Given the description of an element on the screen output the (x, y) to click on. 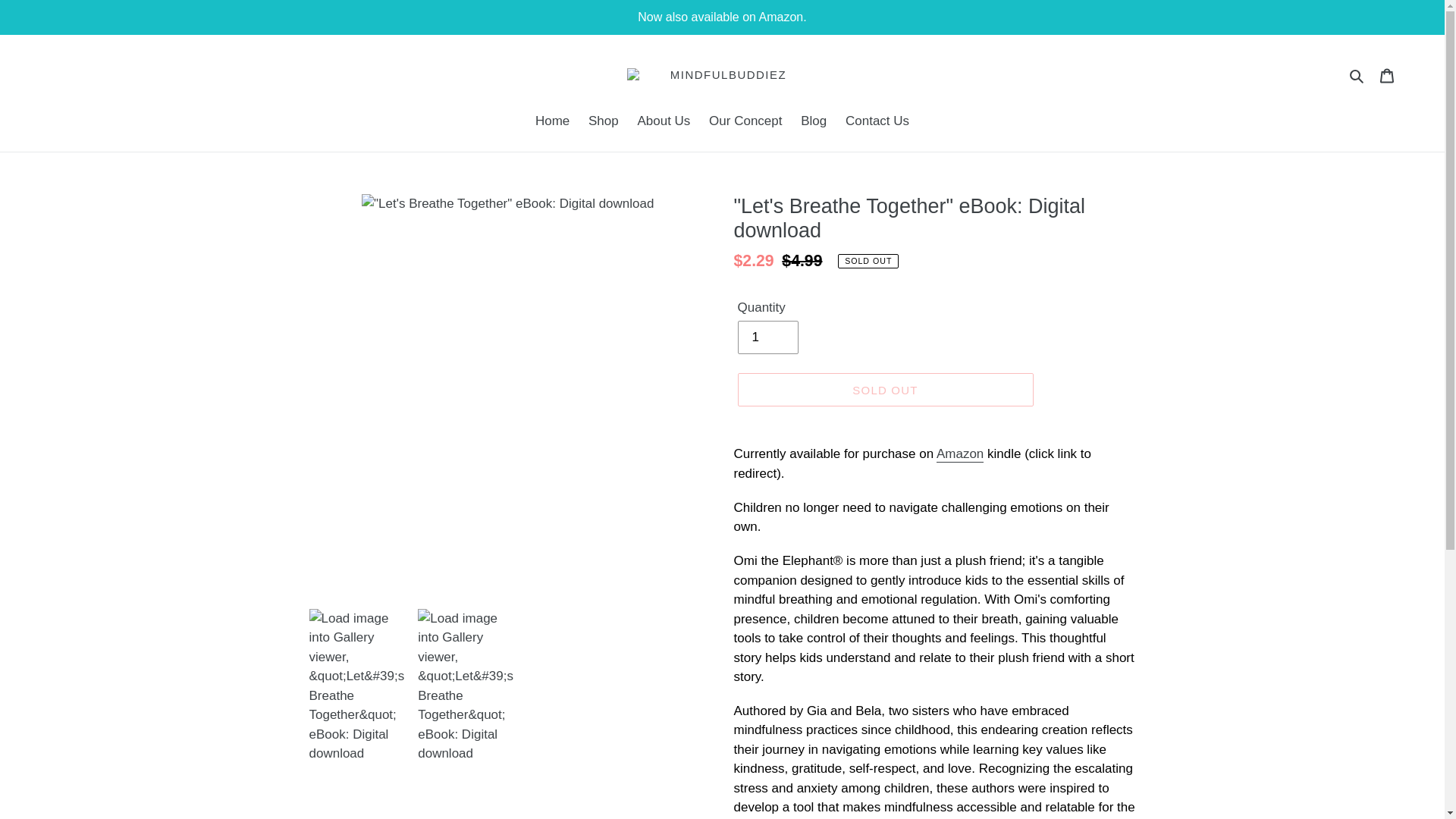
Shop (603, 121)
SOLD OUT (884, 389)
1 (766, 337)
Contact Us (877, 121)
About Us (662, 121)
Our Concept (745, 121)
Amazon (960, 454)
Amazon Kindle Ebook "Let's Breathe Together" (960, 454)
Blog (813, 121)
Search (1357, 74)
